Given the description of an element on the screen output the (x, y) to click on. 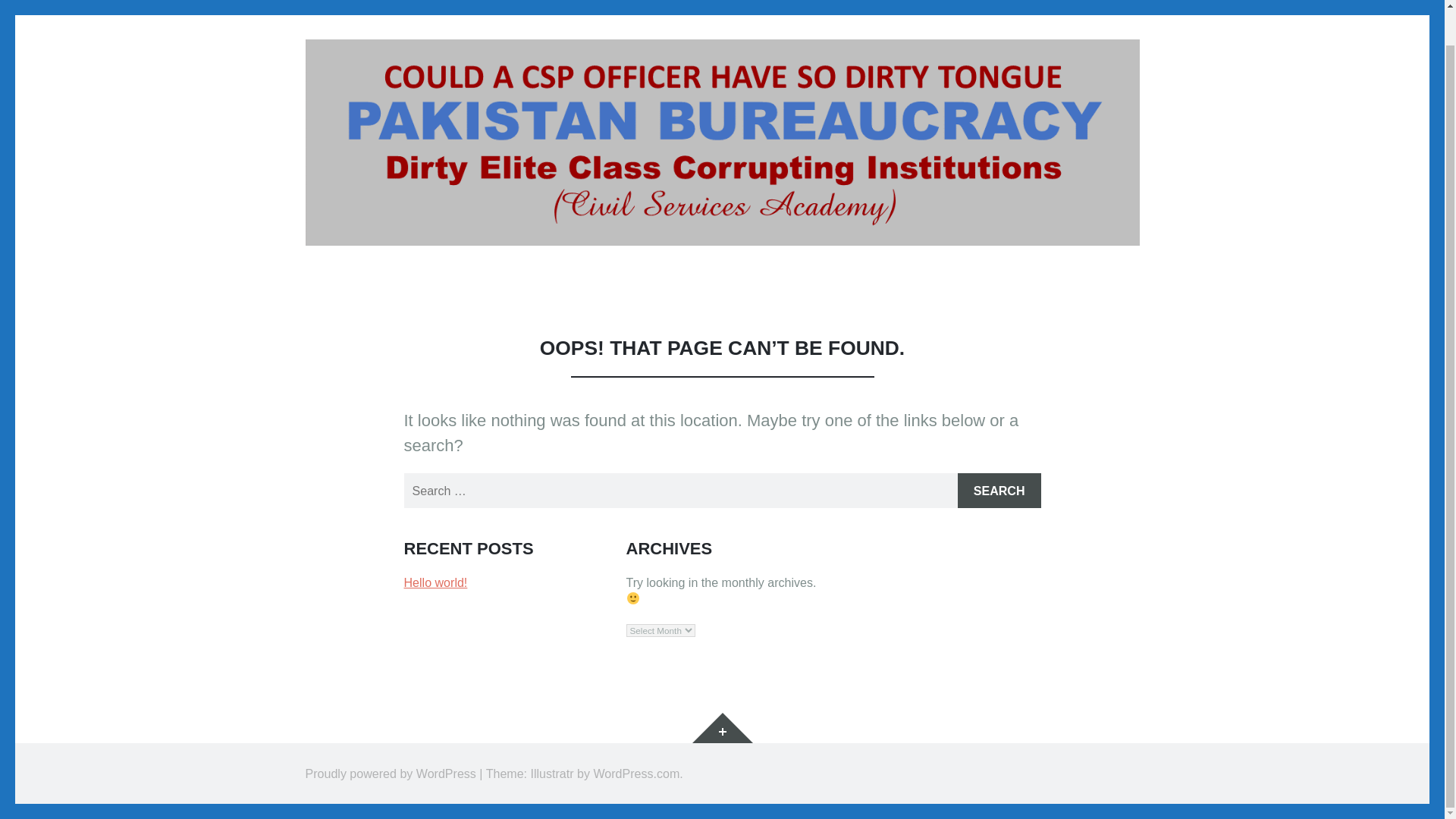
Search (999, 490)
Hello world! (435, 581)
Widgets (721, 727)
Proudly powered by WordPress (390, 773)
Search (999, 490)
Search (999, 490)
WordPress.com (635, 773)
